Given the description of an element on the screen output the (x, y) to click on. 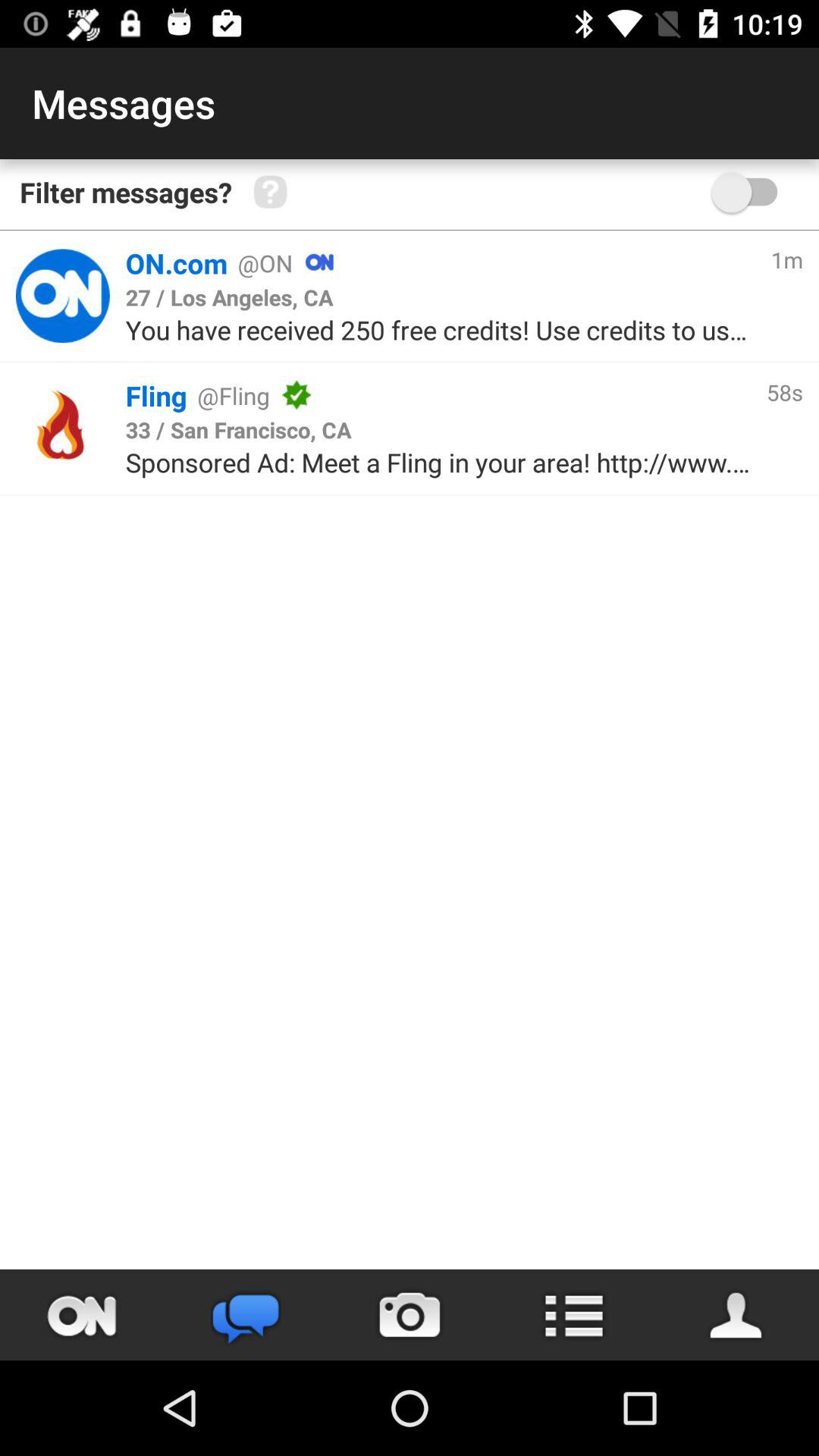
person (737, 1315)
